Given the description of an element on the screen output the (x, y) to click on. 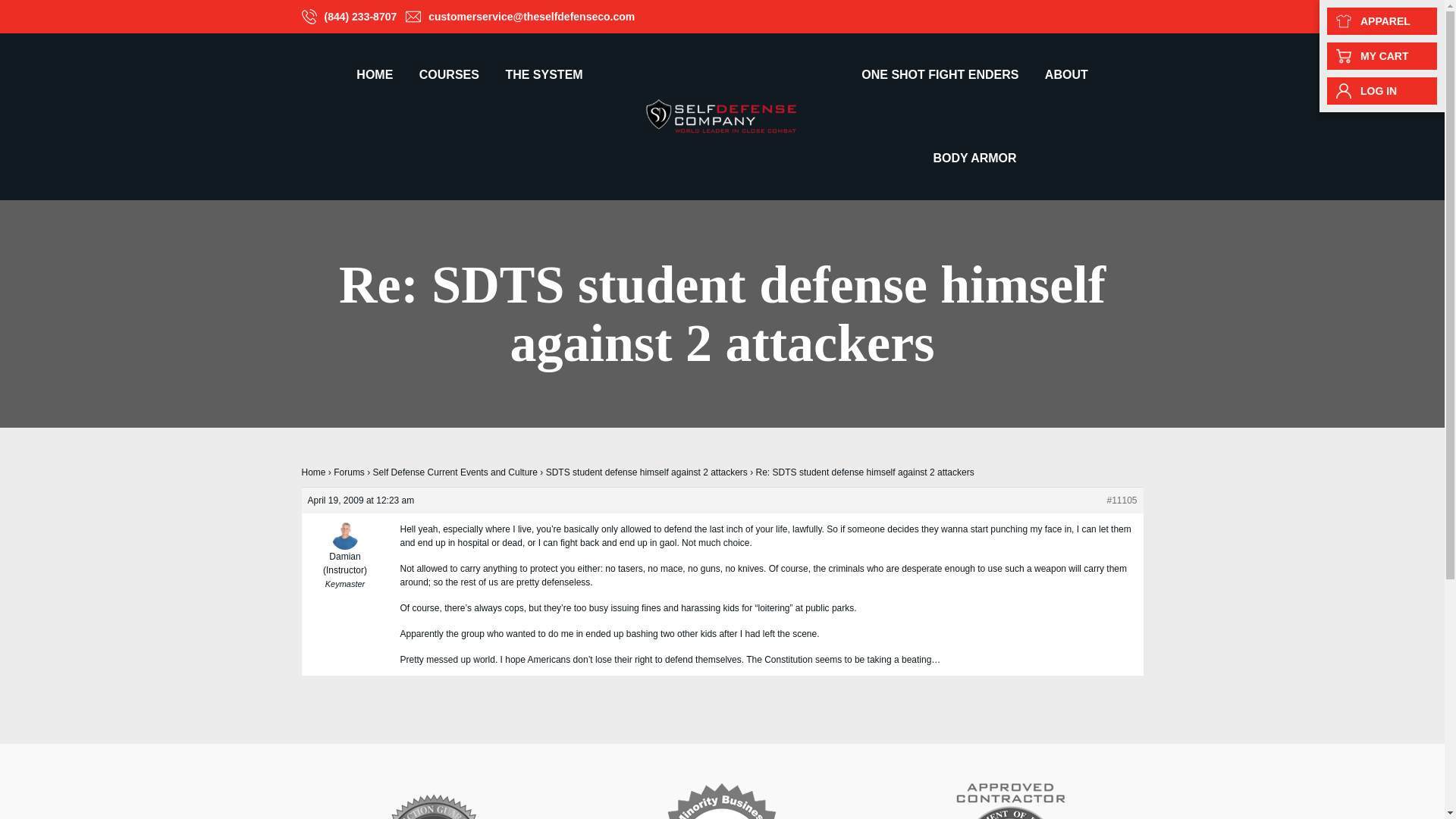
Home (313, 471)
Forums (349, 471)
BODY ARMOR (974, 158)
ONE SHOT FIGHT ENDERS (939, 75)
APPAREL (1381, 21)
MY CART (1381, 55)
THE SYSTEM (543, 75)
SDTS student defense himself against 2 attackers (647, 471)
The Self Defense Company (722, 115)
COURSES (448, 75)
Self Defense Current Events and Culture (454, 471)
LOG IN (1381, 90)
